Given the description of an element on the screen output the (x, y) to click on. 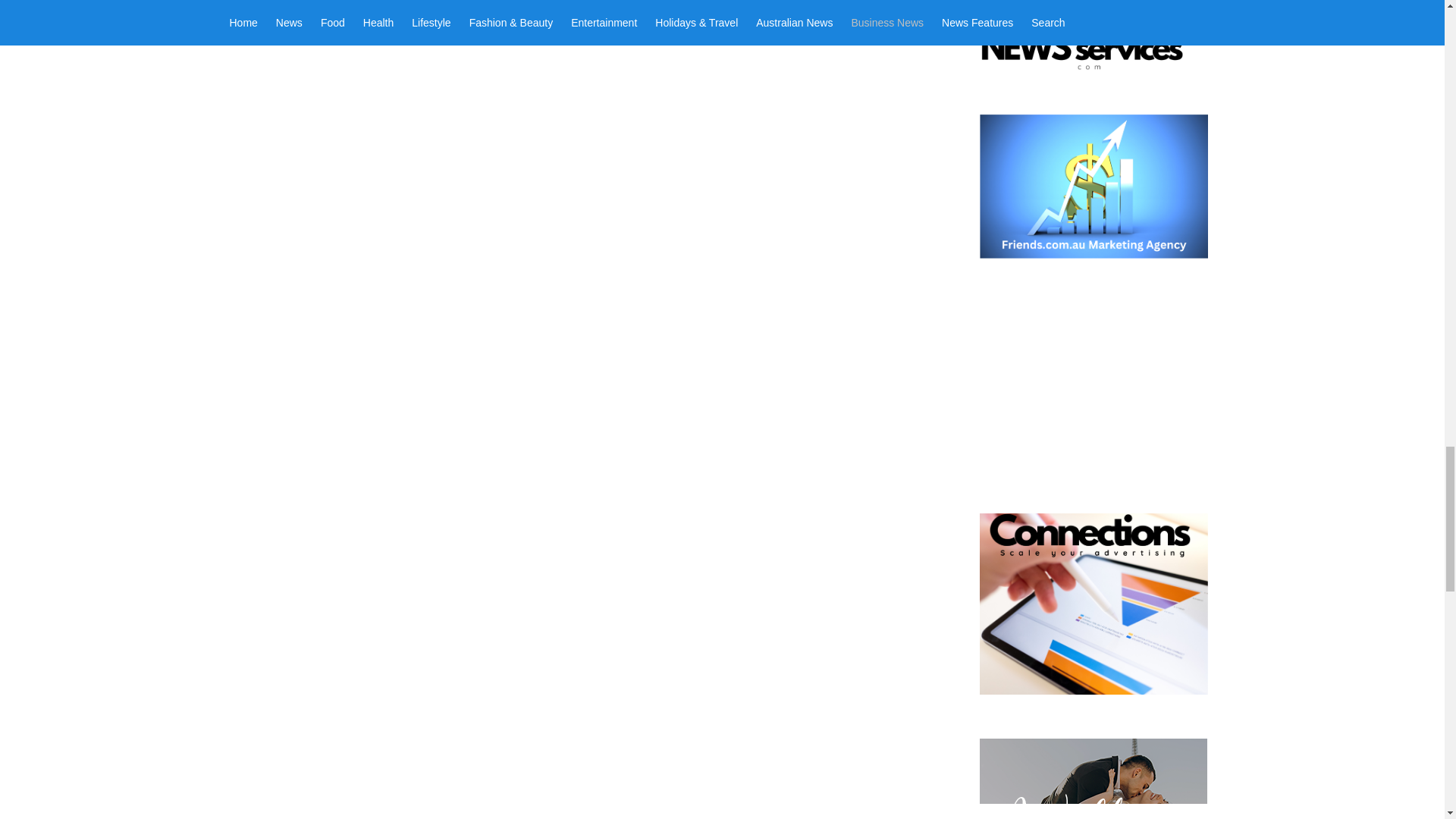
Bondi Beach NSW forecast (1091, 467)
